Given the description of an element on the screen output the (x, y) to click on. 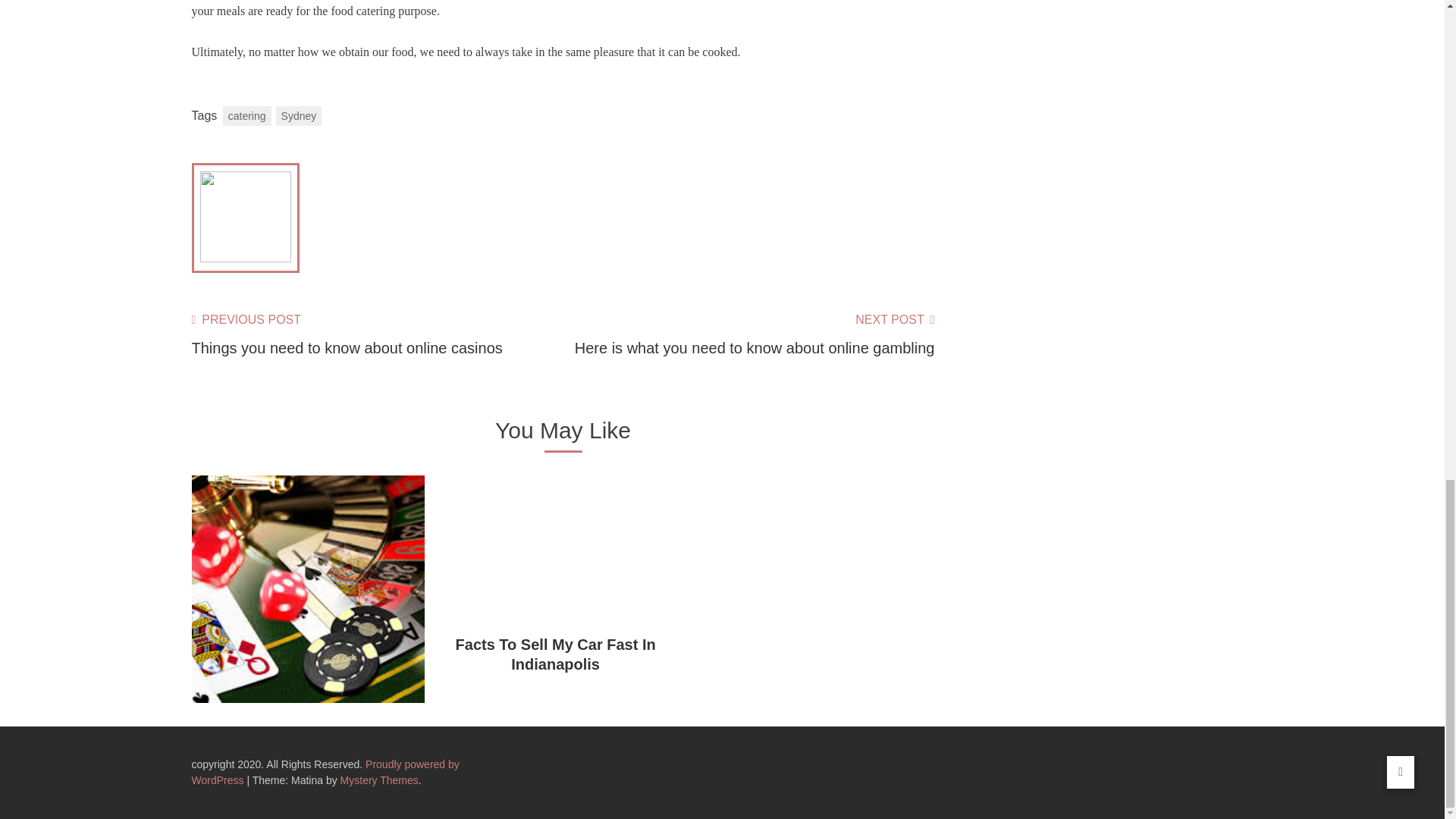
Facts To Sell My Car Fast In Indianapolis (555, 654)
Facts To Sell My Car Fast In Indianapolis (555, 654)
Sydney (298, 116)
catering (246, 116)
